Given the description of an element on the screen output the (x, y) to click on. 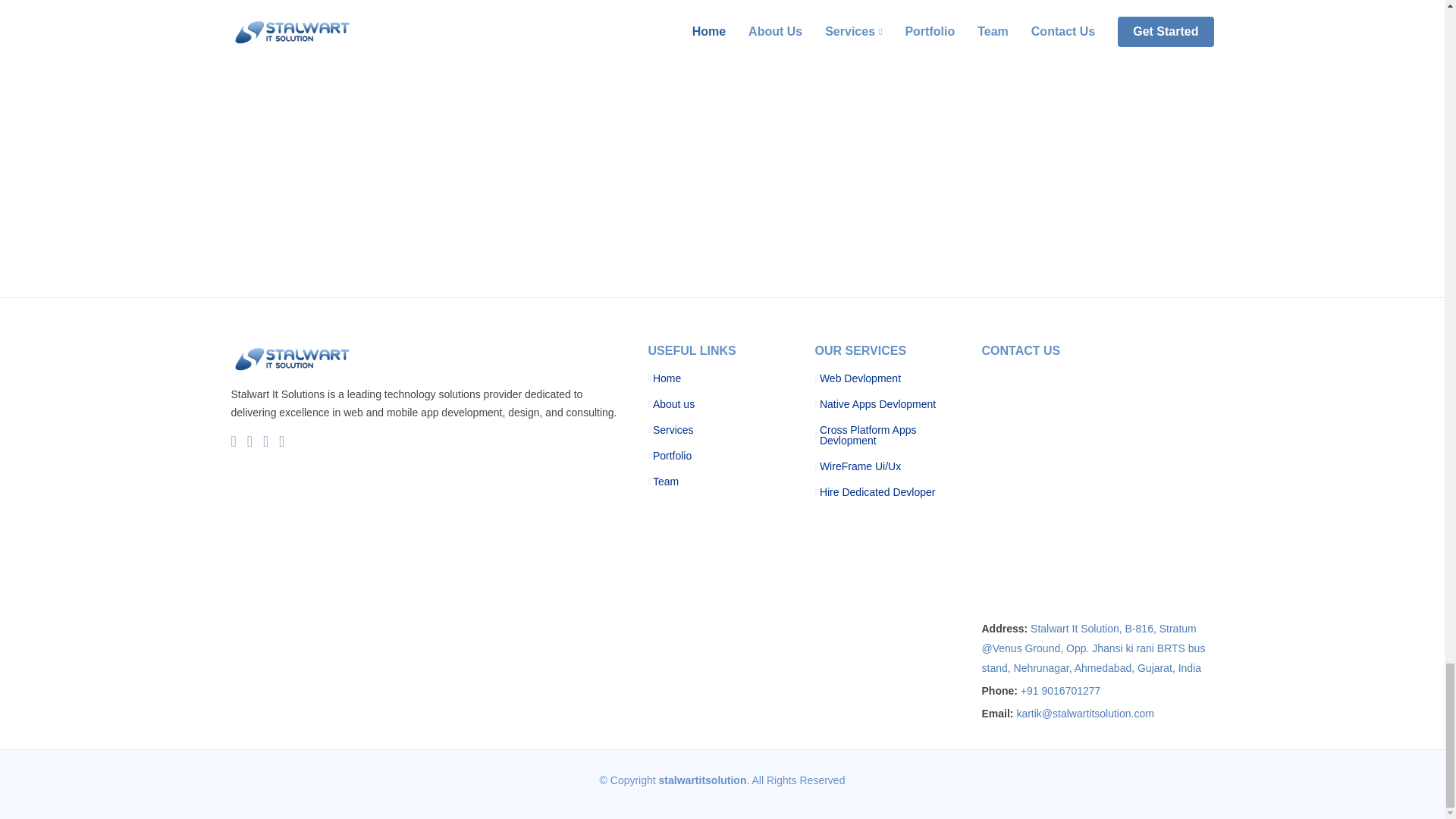
call on 91 9016701277 (1060, 690)
Team (665, 480)
Portfolio (671, 455)
Native Apps Devlopment (877, 403)
Home (666, 378)
About us (673, 403)
Web Devlopment (860, 378)
Services (673, 429)
